Given the description of an element on the screen output the (x, y) to click on. 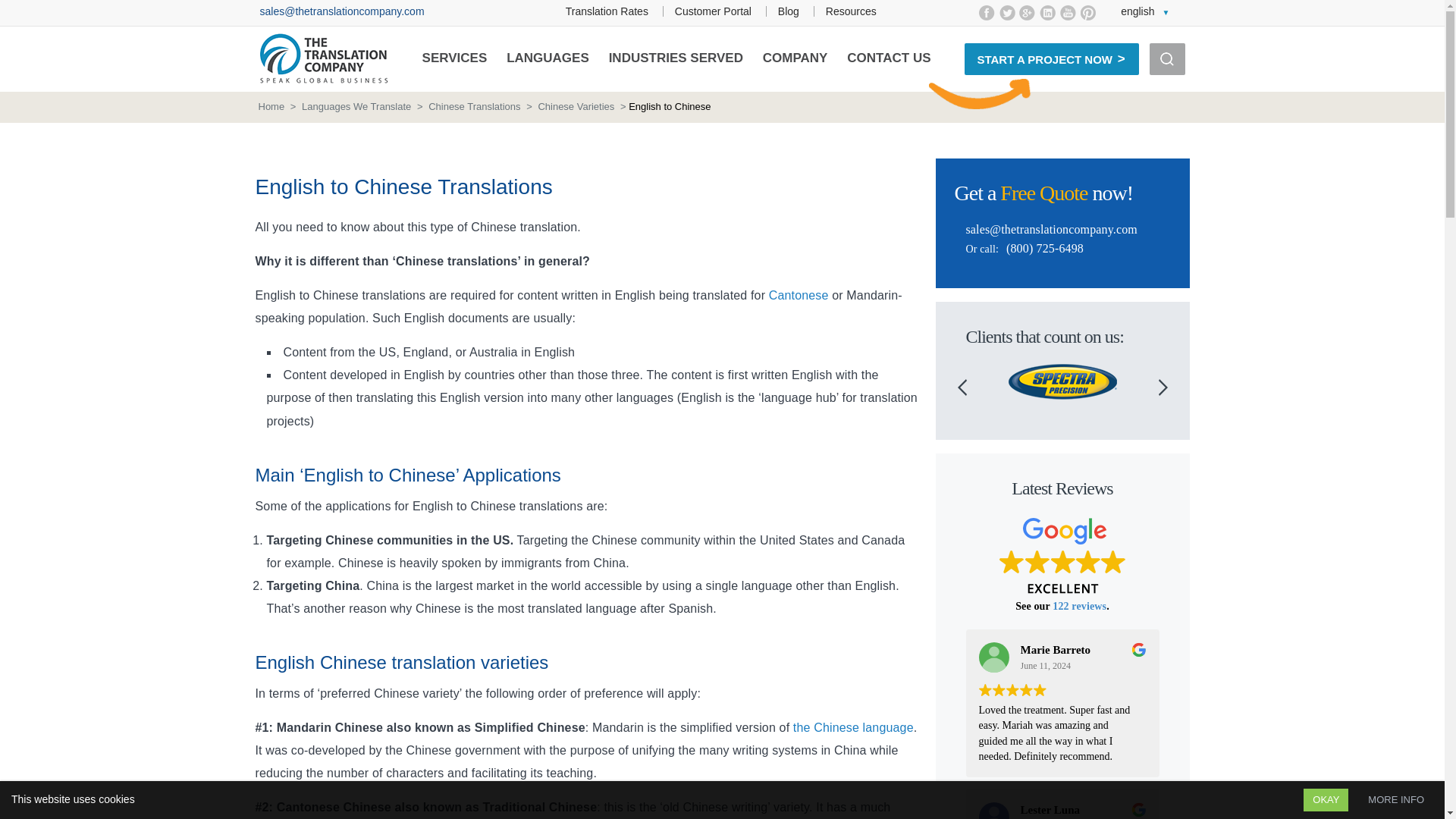
Blog (788, 10)
Document Translation Services (713, 10)
Translation Resources (850, 10)
YouTube (1067, 12)
Professional Translators (606, 10)
LANGUAGES (547, 57)
INDUSTRIES SERVED (675, 57)
Translation News (788, 10)
Pinterest (1088, 12)
tweeter (1006, 12)
LinkedIn (1047, 12)
Choose your preferred language (1145, 11)
Translation Services (454, 57)
Customer Portal (713, 10)
Translation Rates (606, 10)
